Given the description of an element on the screen output the (x, y) to click on. 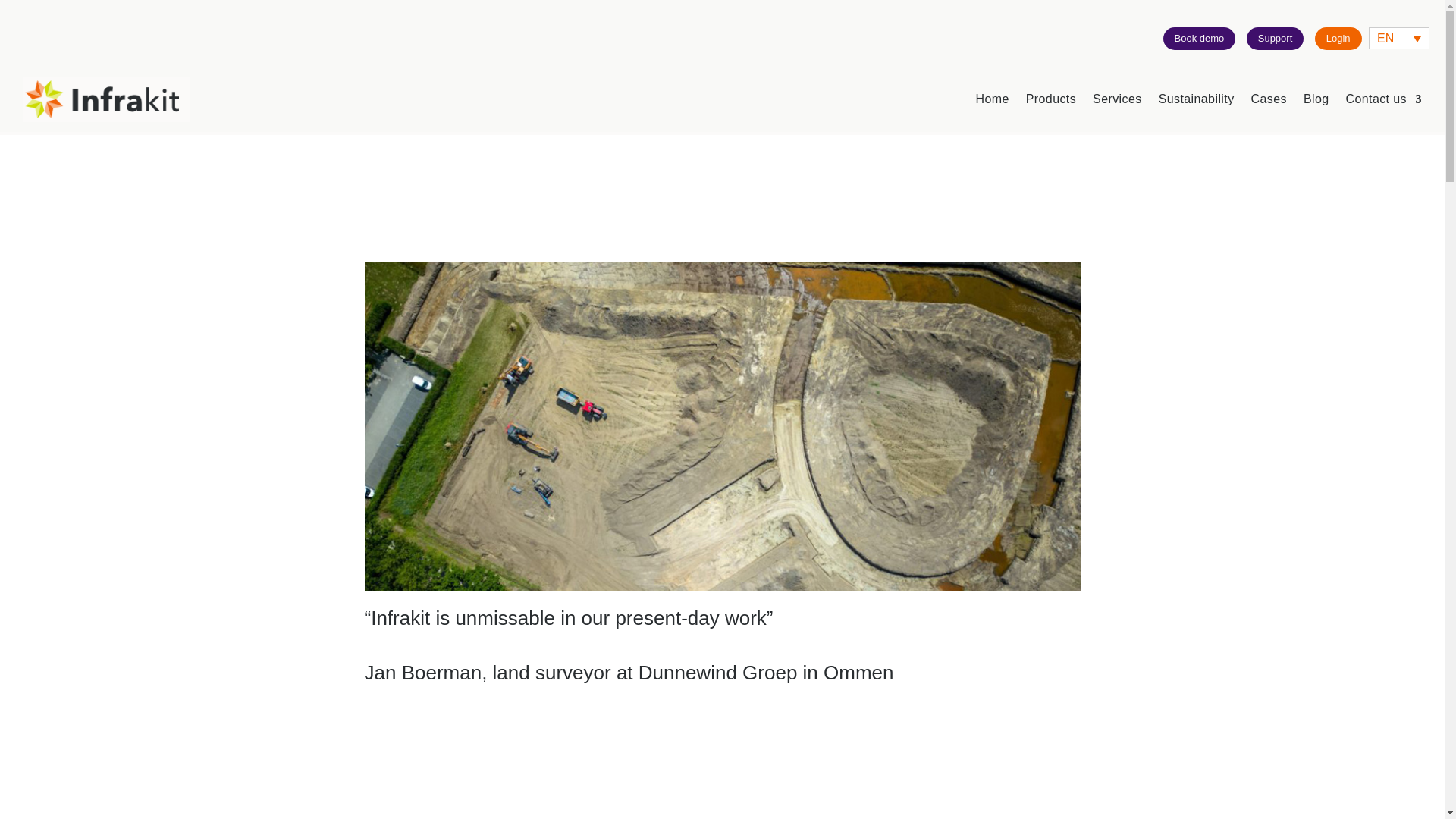
EN (1398, 38)
Login (1337, 38)
Book demo (1199, 38)
Sustainability (1196, 98)
Contact us (1383, 98)
Support (1275, 38)
